Given the description of an element on the screen output the (x, y) to click on. 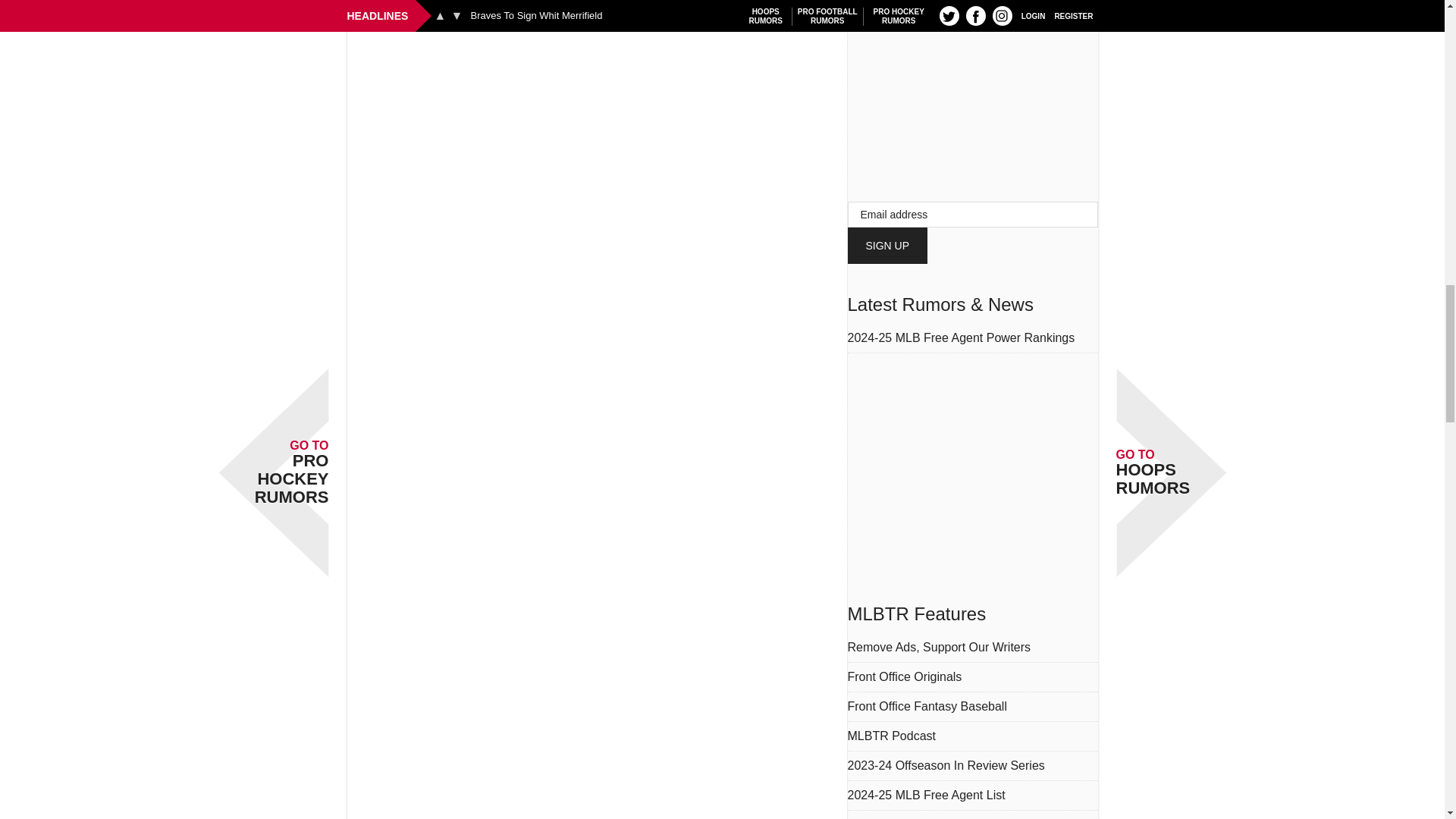
Sign Up (887, 245)
